Given the description of an element on the screen output the (x, y) to click on. 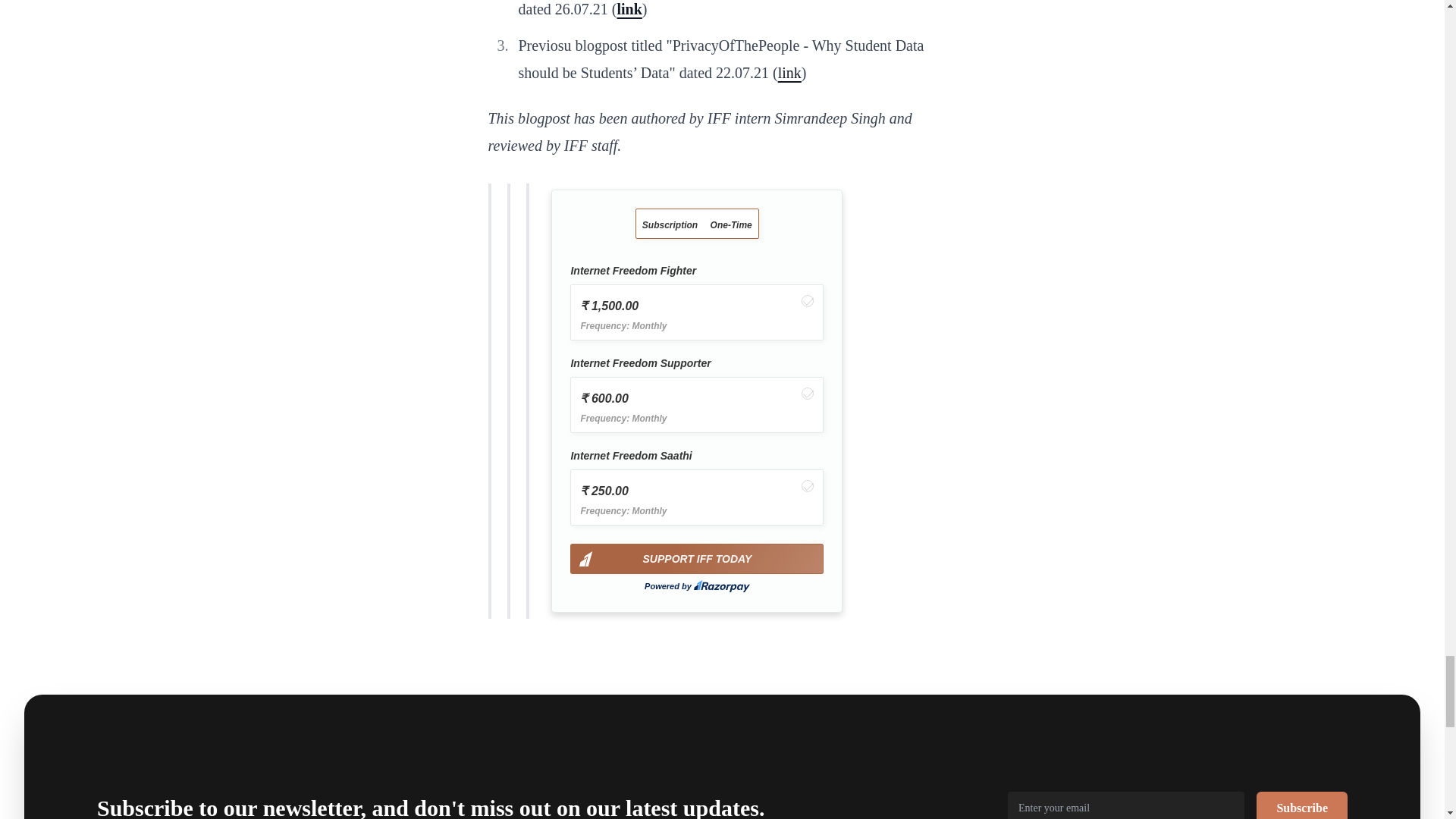
Subscribe (1302, 805)
Powered by (697, 585)
SUPPORT IFF TODAY (697, 558)
link (628, 8)
link (789, 72)
